Given the description of an element on the screen output the (x, y) to click on. 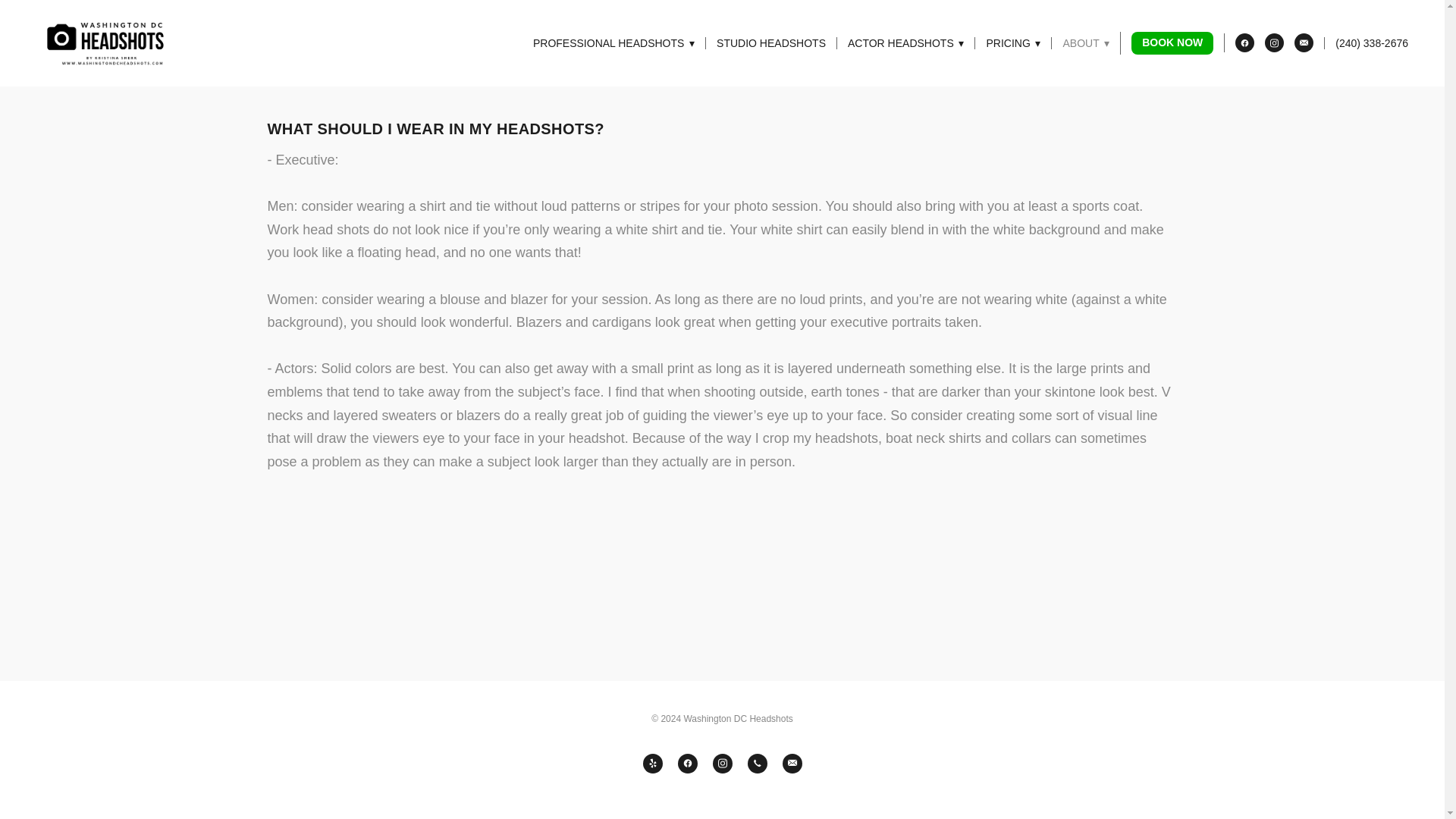
STUDIO HEADSHOTS (770, 43)
BOOK NOW (1171, 43)
DC Headshots (109, 43)
